Given the description of an element on the screen output the (x, y) to click on. 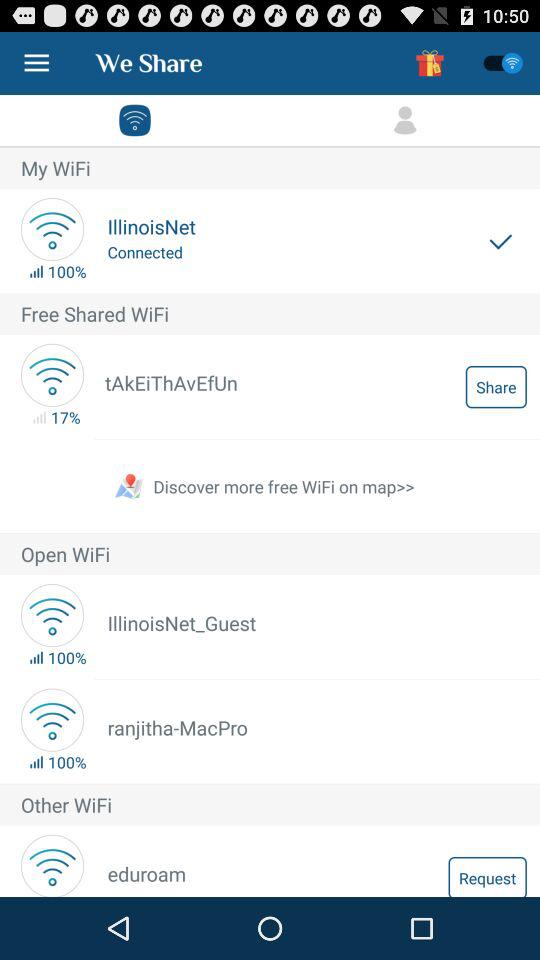
choose item below other wifi (487, 876)
